Given the description of an element on the screen output the (x, y) to click on. 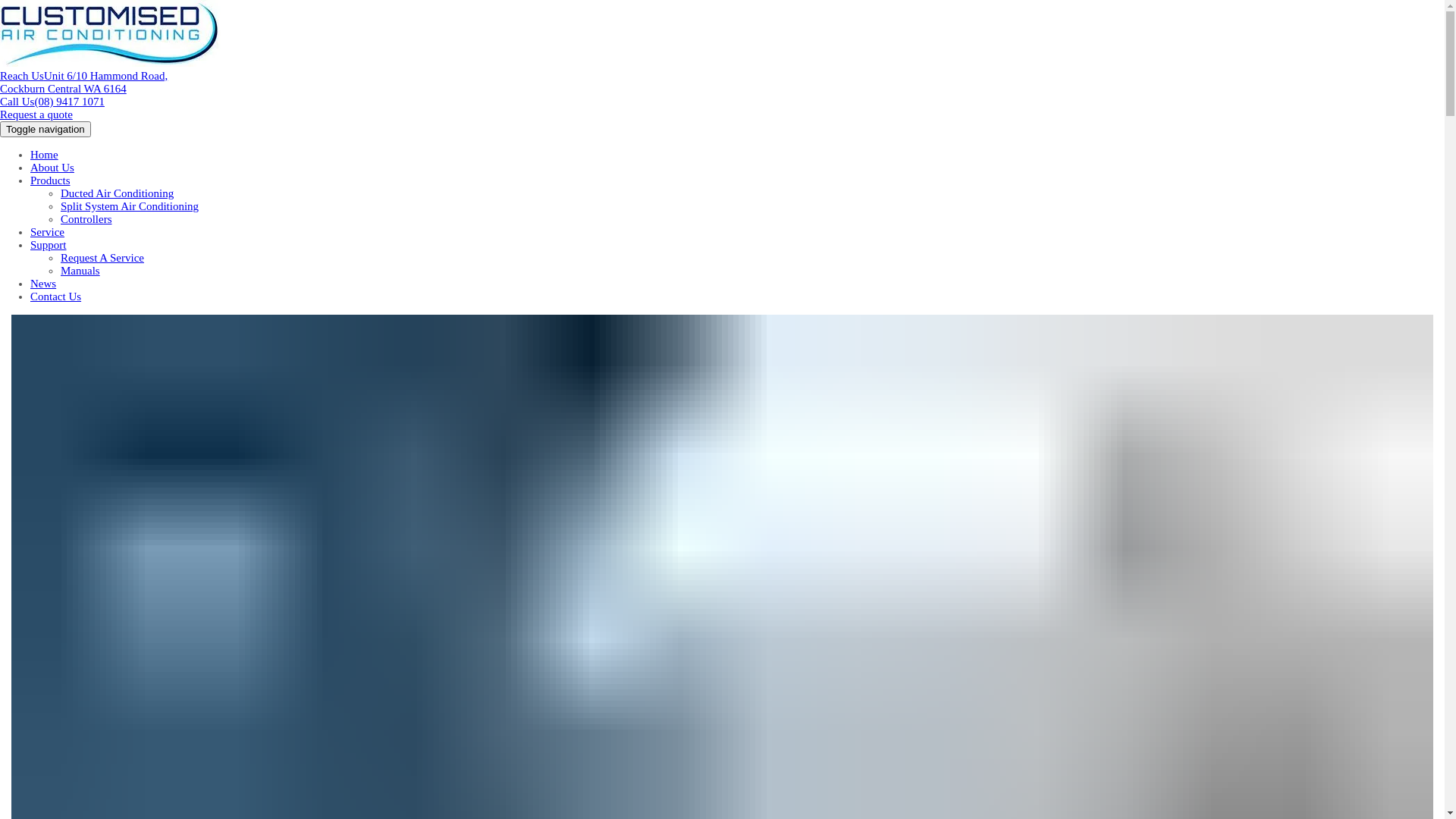
Request a quote Element type: text (36, 114)
Manuals Element type: text (80, 270)
Products Element type: text (50, 180)
Support Element type: text (48, 244)
News Element type: text (43, 283)
Contact Us Element type: text (55, 296)
Call Us(08) 9417 1071 Element type: text (52, 101)
Service Element type: text (47, 231)
Request A Service Element type: text (102, 257)
About Us Element type: text (52, 167)
Split System Air Conditioning Element type: text (129, 206)
Home Element type: text (44, 154)
Reach UsUnit 6/10 Hammond Road,
Cockburn Central WA 6164 Element type: text (83, 81)
Controllers Element type: text (86, 219)
Toggle navigation Element type: text (45, 129)
Ducted Air Conditioning Element type: text (116, 193)
